Given the description of an element on the screen output the (x, y) to click on. 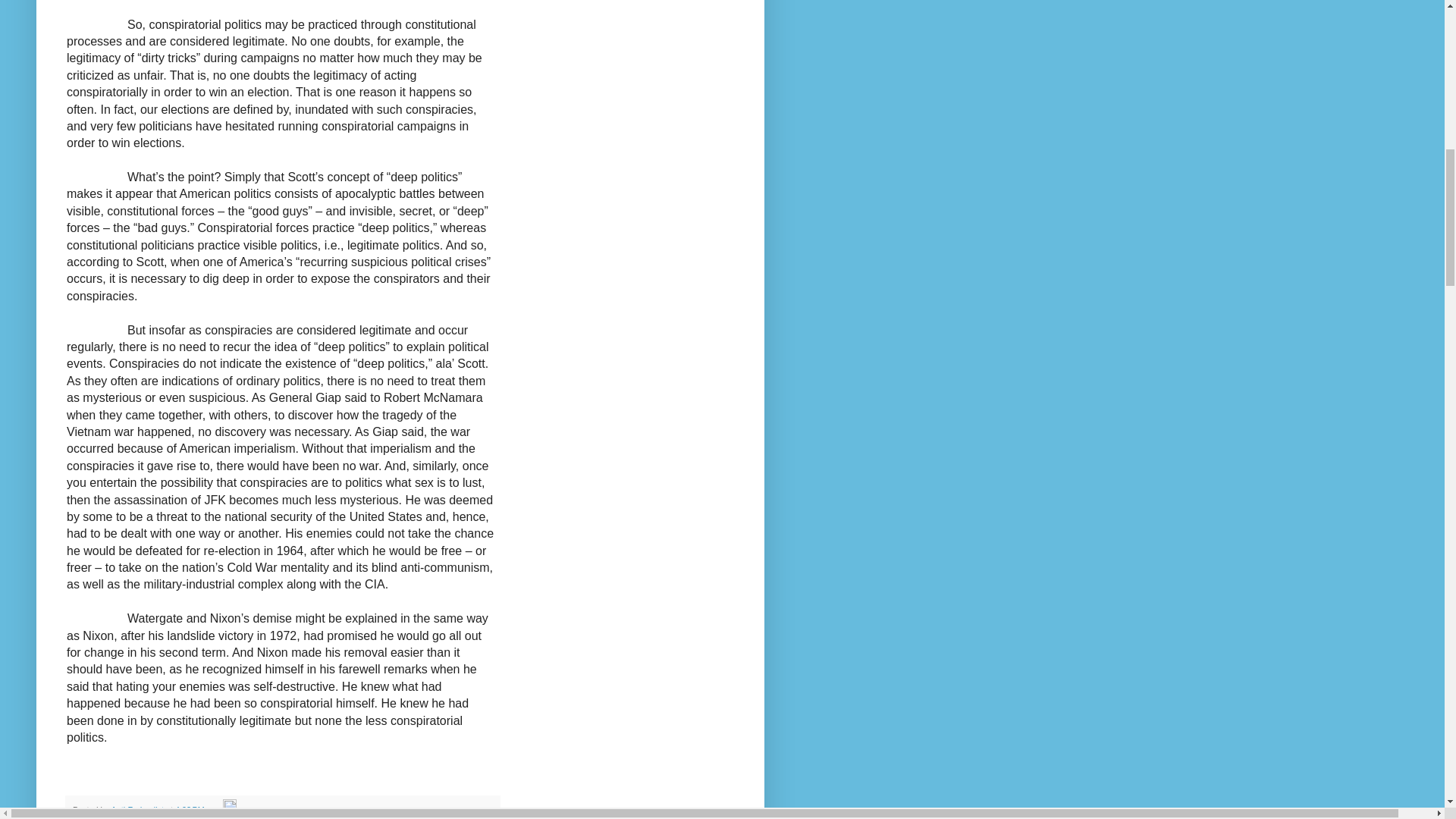
Edit Post (228, 809)
Anti-Federalist (137, 809)
Email Post (214, 809)
author profile (137, 809)
permanent link (189, 809)
